Given the description of an element on the screen output the (x, y) to click on. 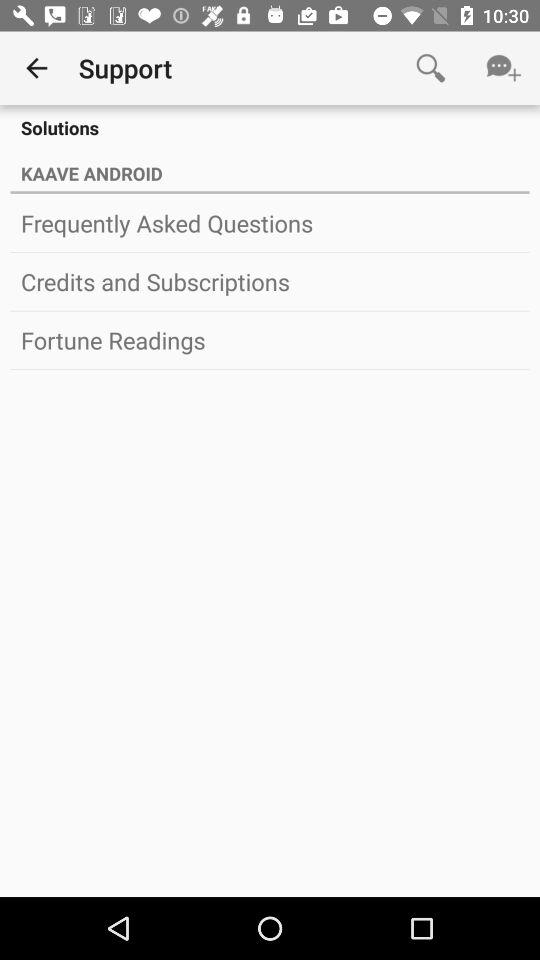
select icon to the left of support app (36, 68)
